Given the description of an element on the screen output the (x, y) to click on. 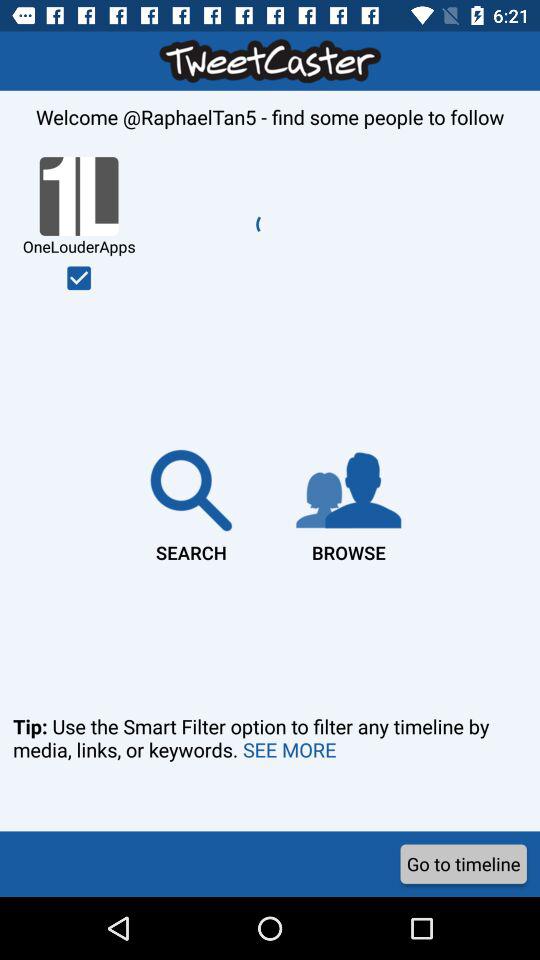
launch icon above the go to timeline item (269, 765)
